Given the description of an element on the screen output the (x, y) to click on. 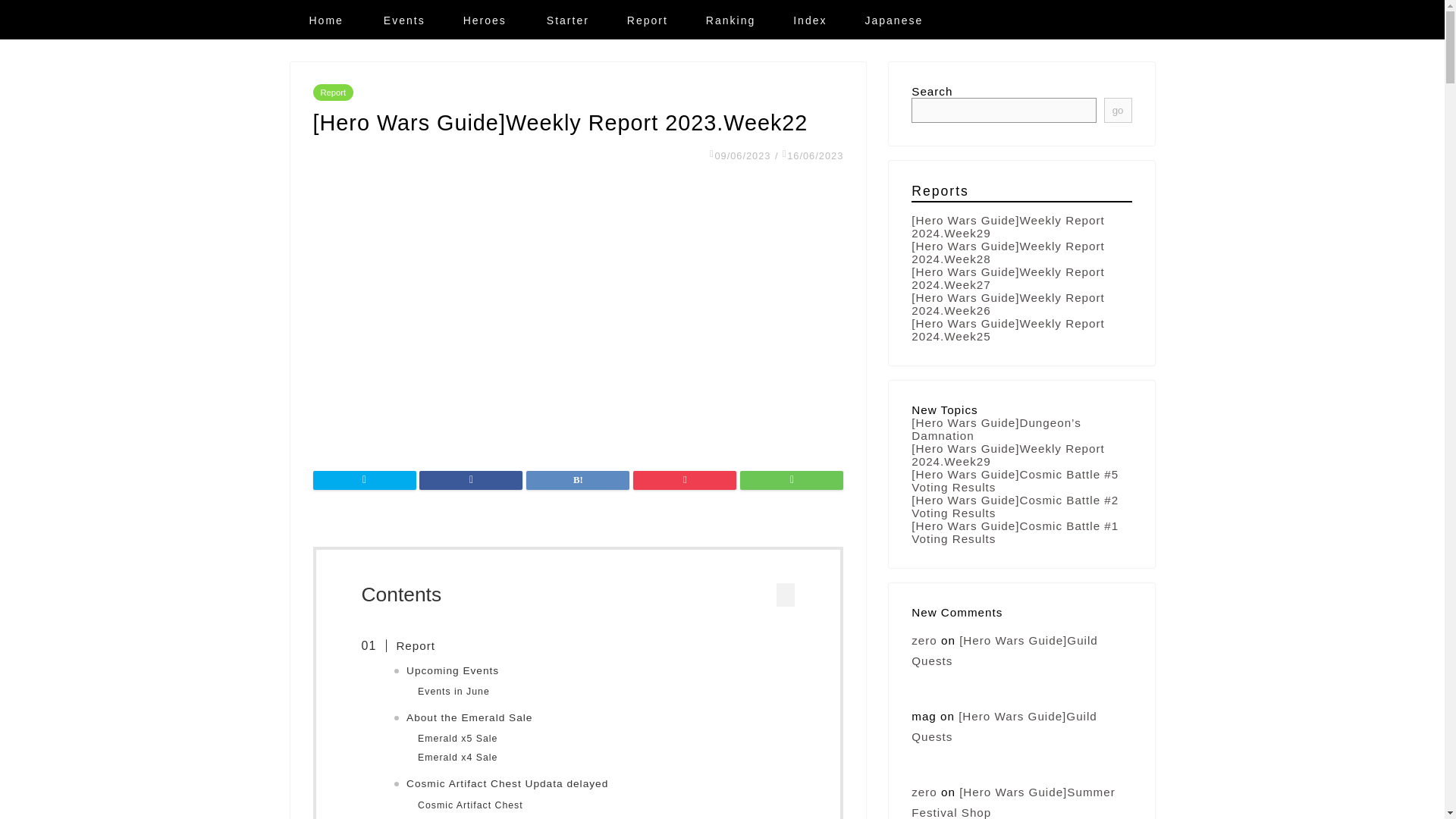
Events in June (453, 692)
Cosmic Artifact Chest (469, 805)
Cosmic Artifact Chest Updata delayed (507, 784)
Japanese (893, 25)
Ranking (730, 28)
Emerald x4 Sale (457, 758)
About the Emerald Sale (469, 718)
Starter (566, 31)
Emerald x5 Sale (457, 739)
Report (647, 30)
Upcoming Events (452, 671)
Report (406, 647)
Index (809, 27)
Report (333, 96)
